Given the description of an element on the screen output the (x, y) to click on. 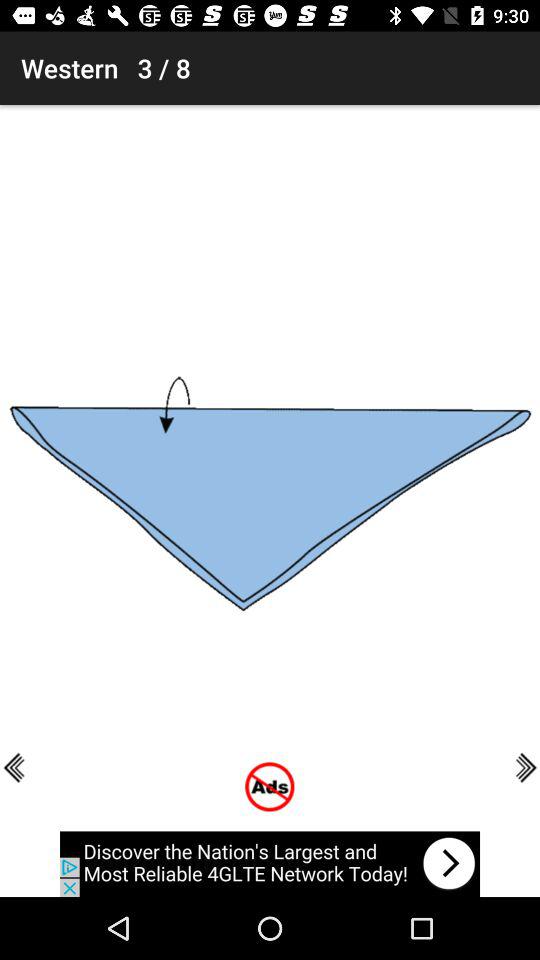
toggle network (270, 864)
